Given the description of an element on the screen output the (x, y) to click on. 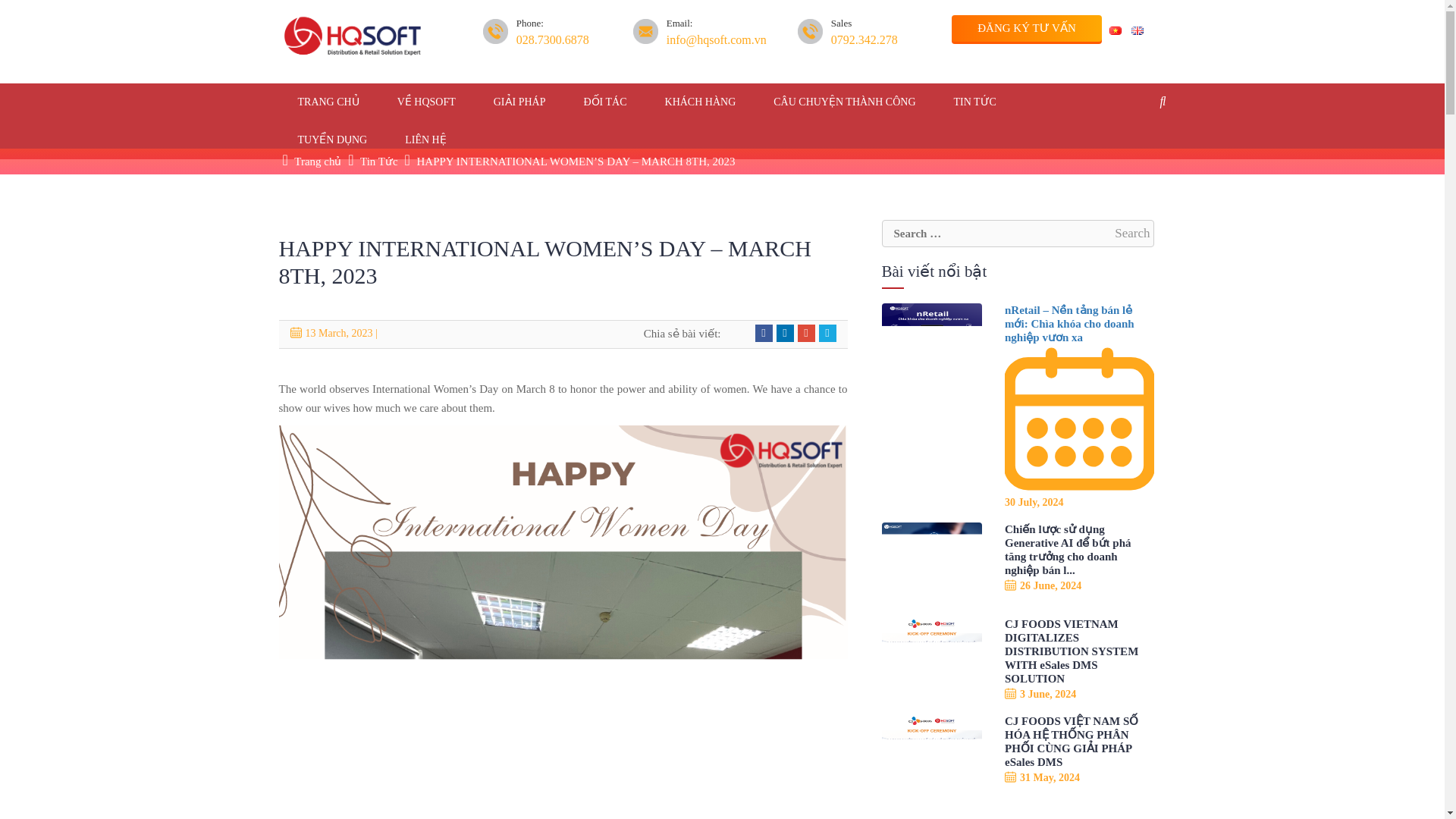
Search (1131, 233)
Search (1131, 233)
0792.342.278 (864, 40)
028.7300.6878 (552, 40)
